Given the description of an element on the screen output the (x, y) to click on. 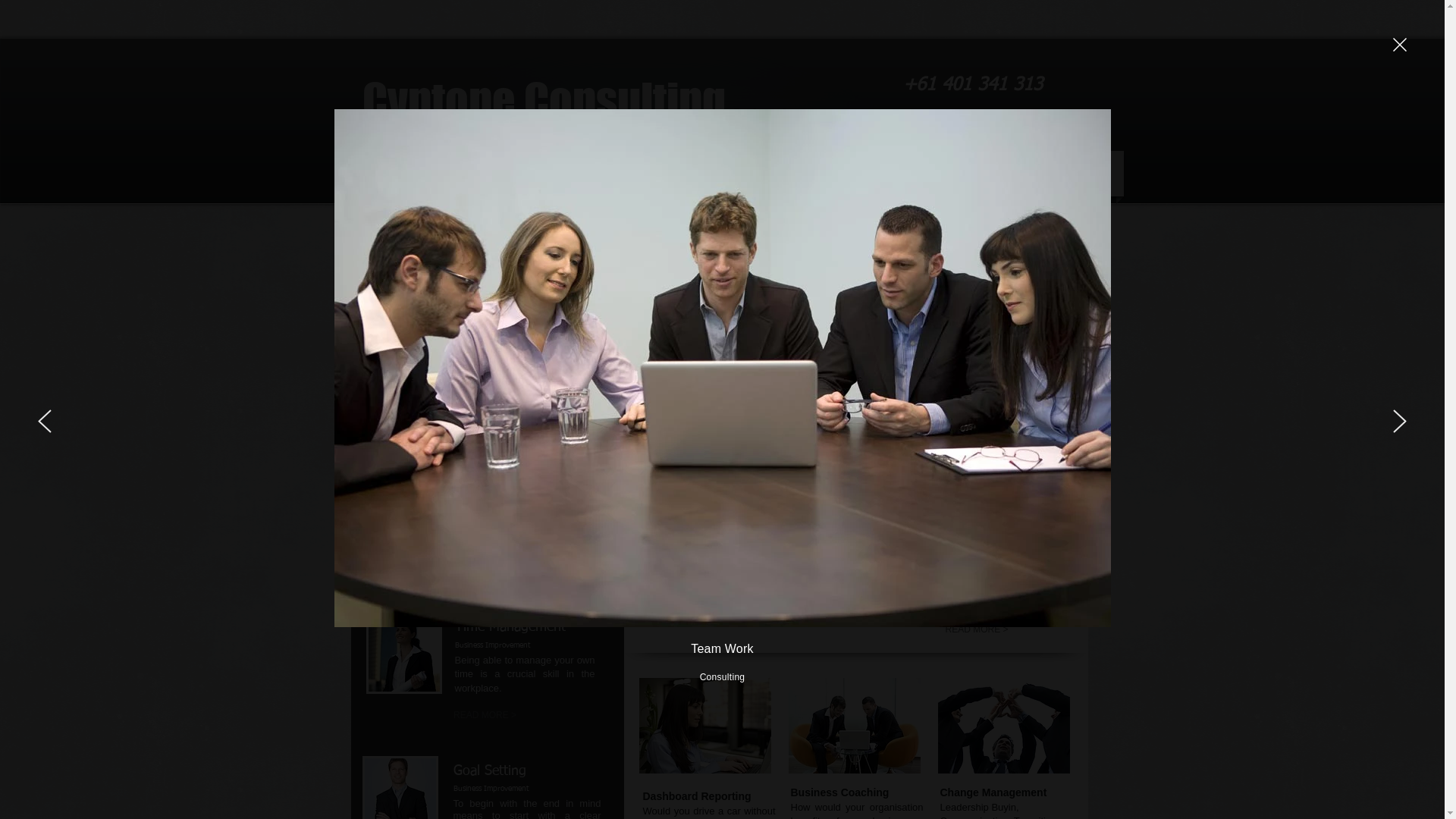
Home Element type: text (384, 172)
Meet The Team Element type: text (481, 293)
Community Element type: text (857, 172)
Clients Element type: text (600, 172)
Cyntone Blog Element type: text (1021, 172)
LOA Element type: text (1096, 172)
Time Management Element type: hover (403, 655)
What We Offer Element type: text (483, 330)
READ MORE > Element type: text (975, 629)
Business Coaching Element type: hover (853, 725)
Local Government Element type: hover (1003, 725)
Our Clients Element type: text (483, 394)
Make an Appointment Element type: text (482, 475)
Downloads Element type: text (770, 172)
Helpful Hints Element type: text (679, 172)
READ MORE > Element type: text (484, 715)
Contact Element type: text (936, 172)
READ MORE > Element type: text (721, 606)
Services Element type: text (532, 172)
Our Team Element type: text (456, 172)
Dashboard Reporting Element type: hover (705, 725)
Guides & Tips Element type: text (483, 364)
